Given the description of an element on the screen output the (x, y) to click on. 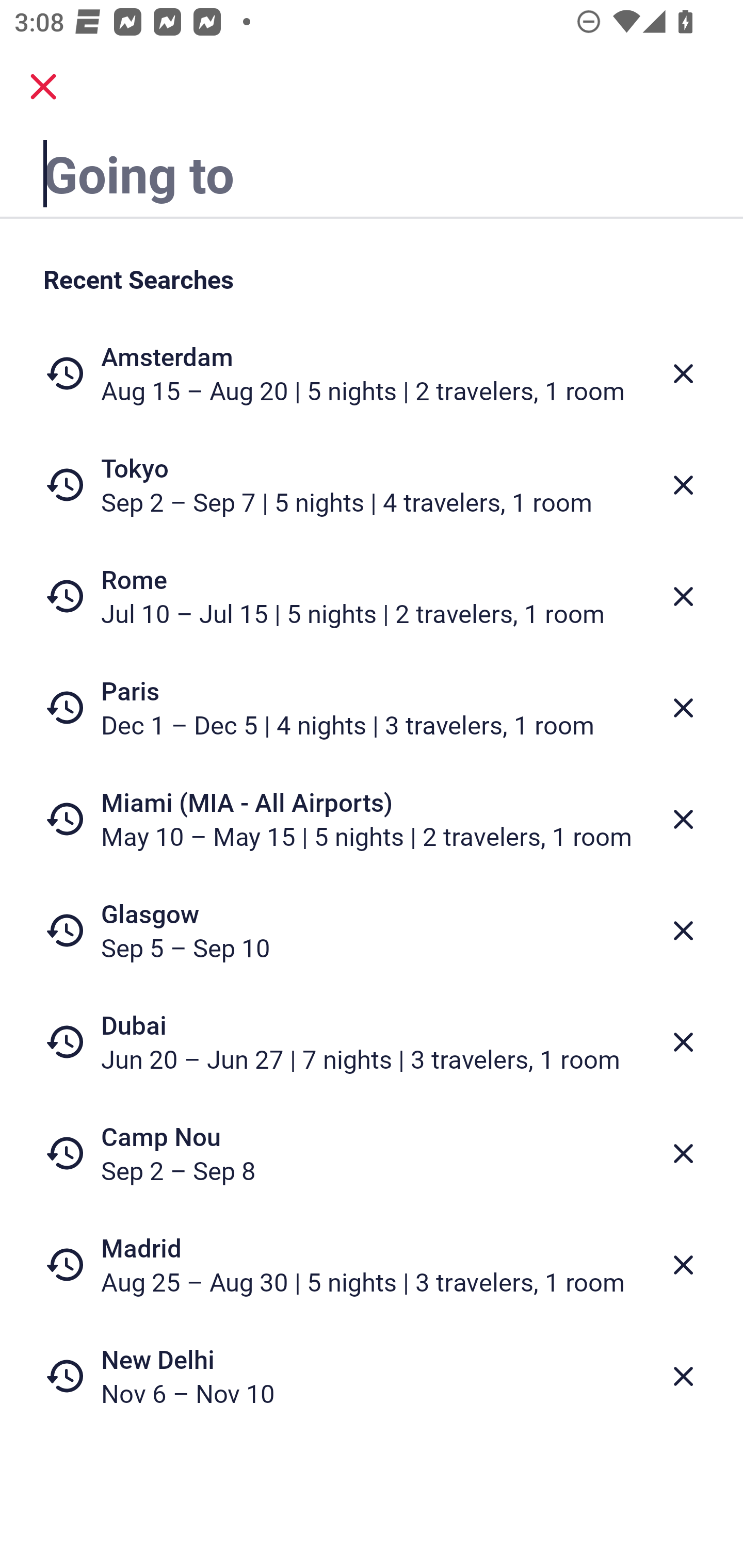
close. (43, 86)
Delete from recent searches (683, 373)
Delete from recent searches (683, 485)
Delete from recent searches (683, 596)
Delete from recent searches (683, 707)
Delete from recent searches (683, 819)
Glasgow Sep 5 – Sep 10 (371, 930)
Delete from recent searches (683, 930)
Delete from recent searches (683, 1041)
Camp Nou Sep 2 – Sep 8 (371, 1152)
Delete from recent searches (683, 1153)
Delete from recent searches (683, 1265)
New Delhi Nov 6 – Nov 10 (371, 1375)
Delete from recent searches (683, 1376)
